Given the description of an element on the screen output the (x, y) to click on. 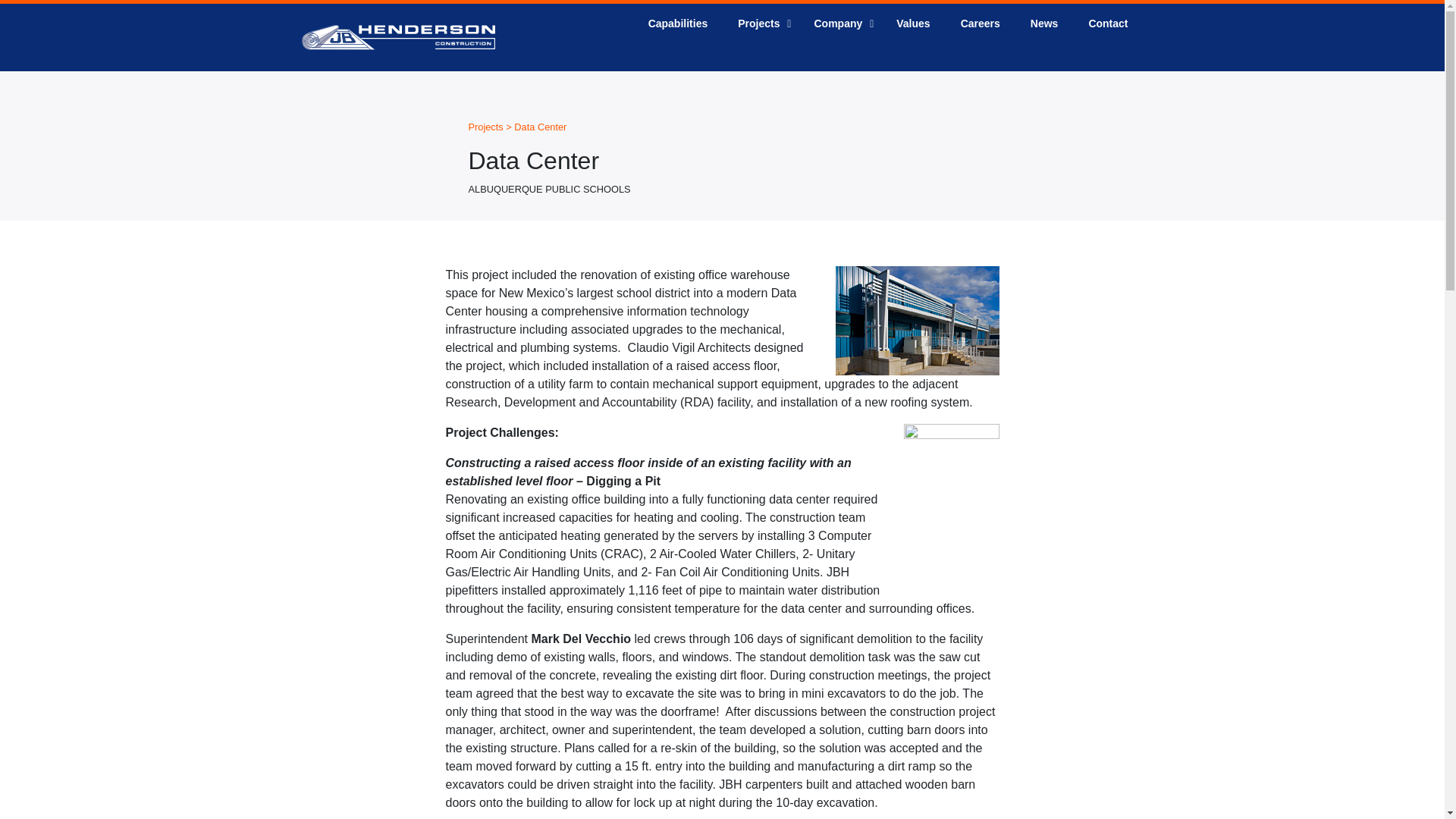
Values (887, 23)
Go to Projects. (912, 23)
Company (485, 126)
Careers (838, 23)
Projects (979, 23)
Projects (759, 23)
Capabilities (485, 126)
News (678, 23)
Contact (1044, 23)
